Given the description of an element on the screen output the (x, y) to click on. 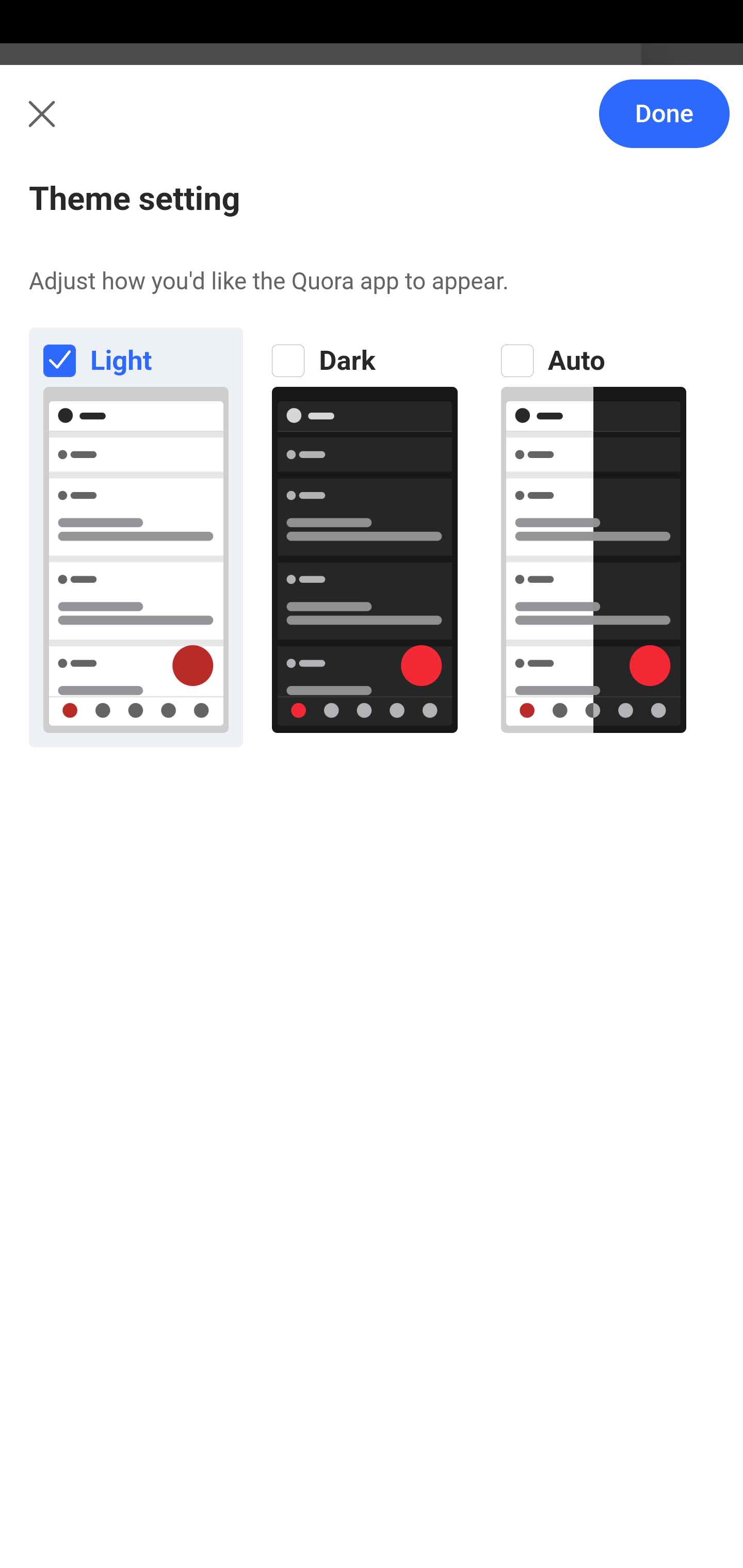
Me Notifications Search (371, 125)
Me (64, 125)
All Notifications Read (160, 213)
